Given the description of an element on the screen output the (x, y) to click on. 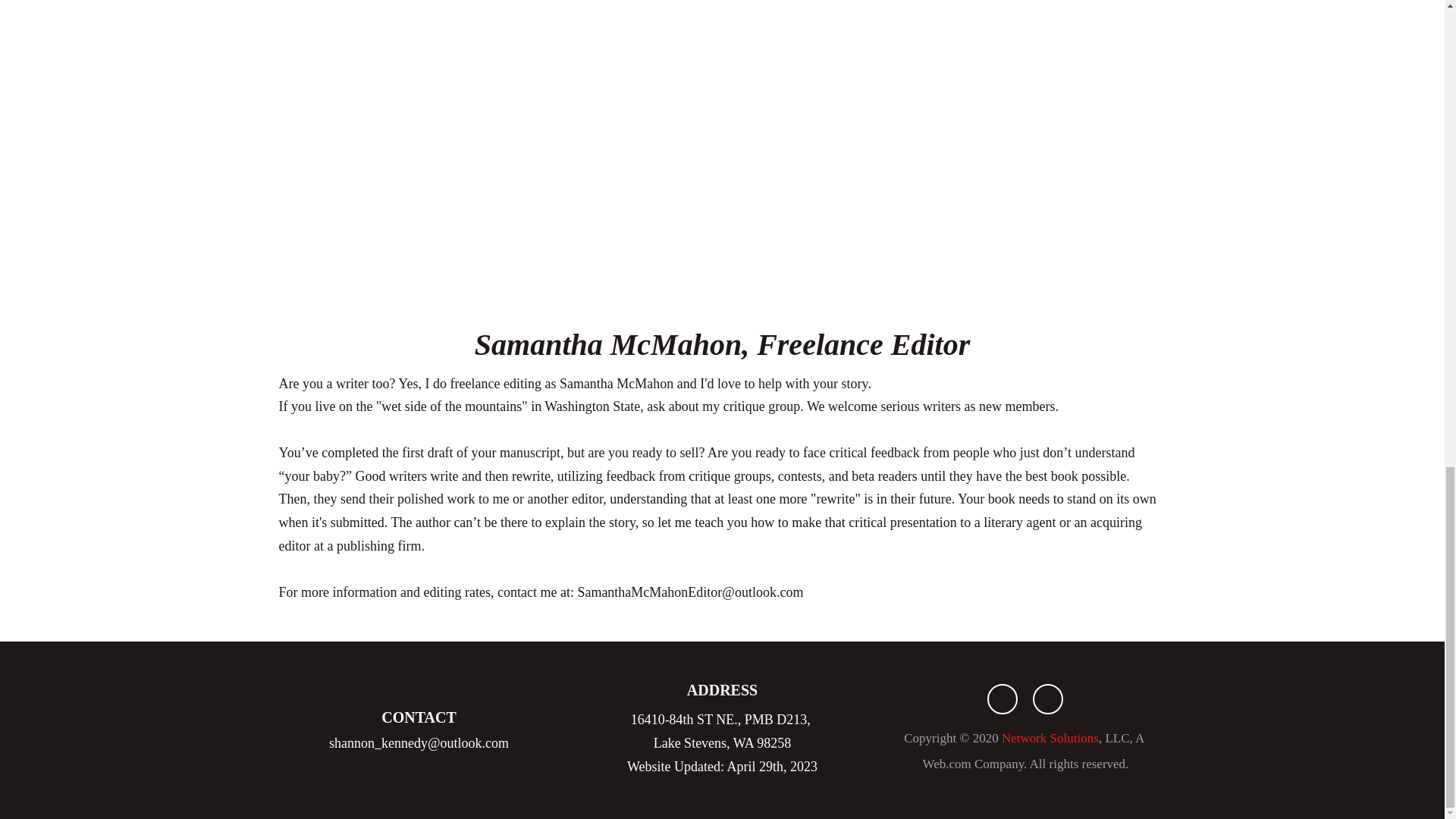
Network Solutions (1050, 738)
